Given the description of an element on the screen output the (x, y) to click on. 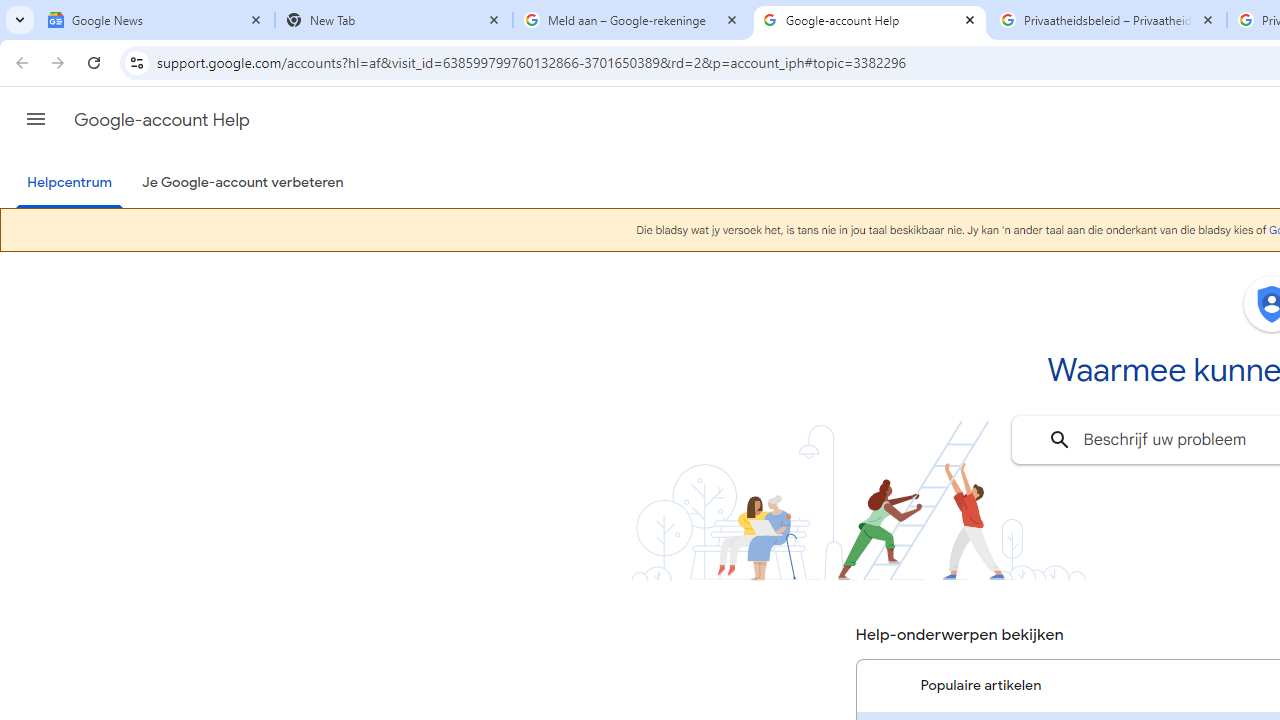
Je Google-account verbeteren (242, 183)
New Tab (394, 20)
Zoeken (1059, 439)
Google-account Help (870, 20)
Hoofdmenu (35, 119)
Google News (156, 20)
Helpcentrum (69, 183)
Google-account Help (161, 119)
